Given the description of an element on the screen output the (x, y) to click on. 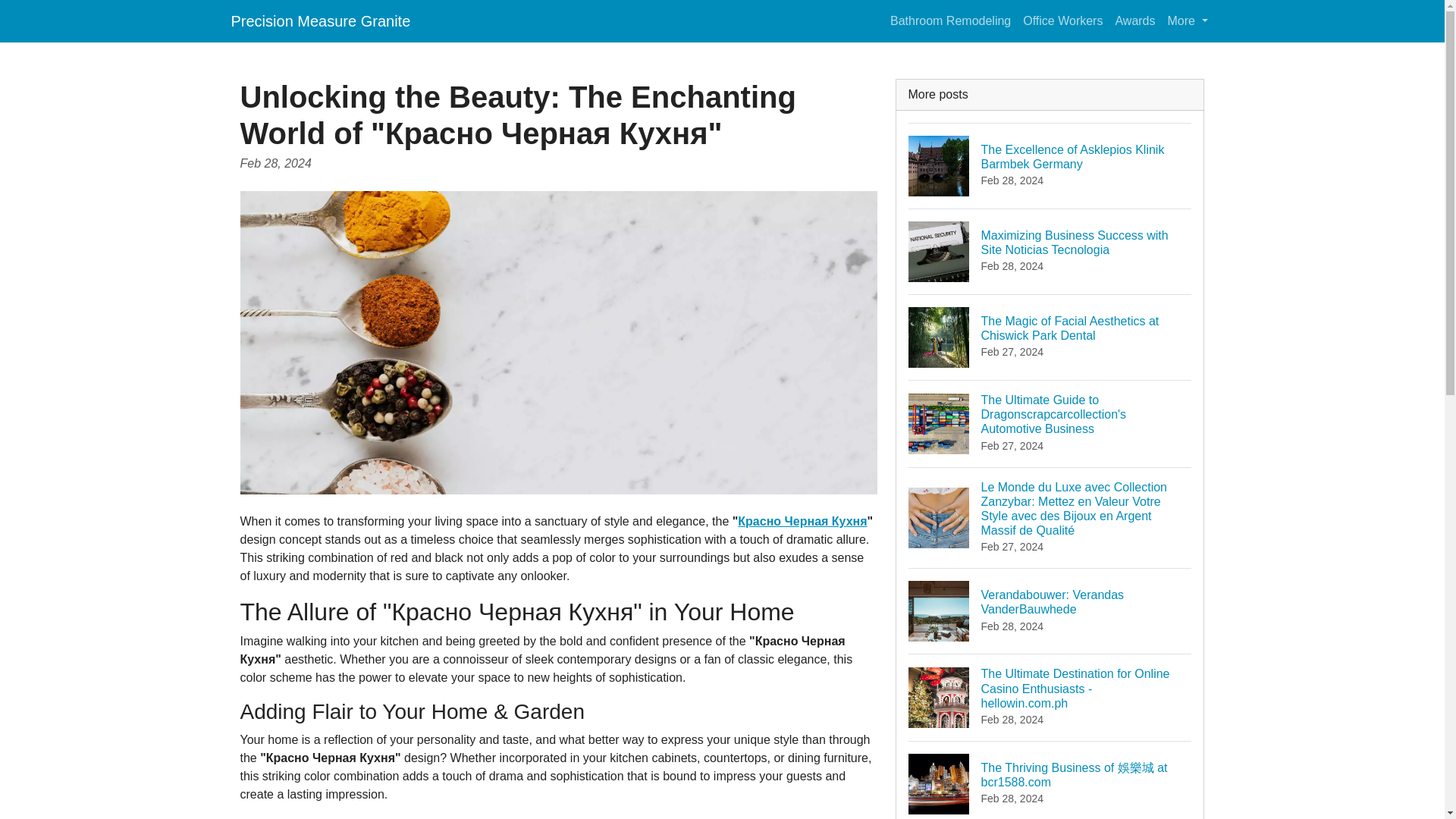
Precision Measure Granite (320, 20)
Awards (1134, 20)
Office Workers (1062, 20)
More (1050, 610)
Bathroom Remodeling (1187, 20)
